Given the description of an element on the screen output the (x, y) to click on. 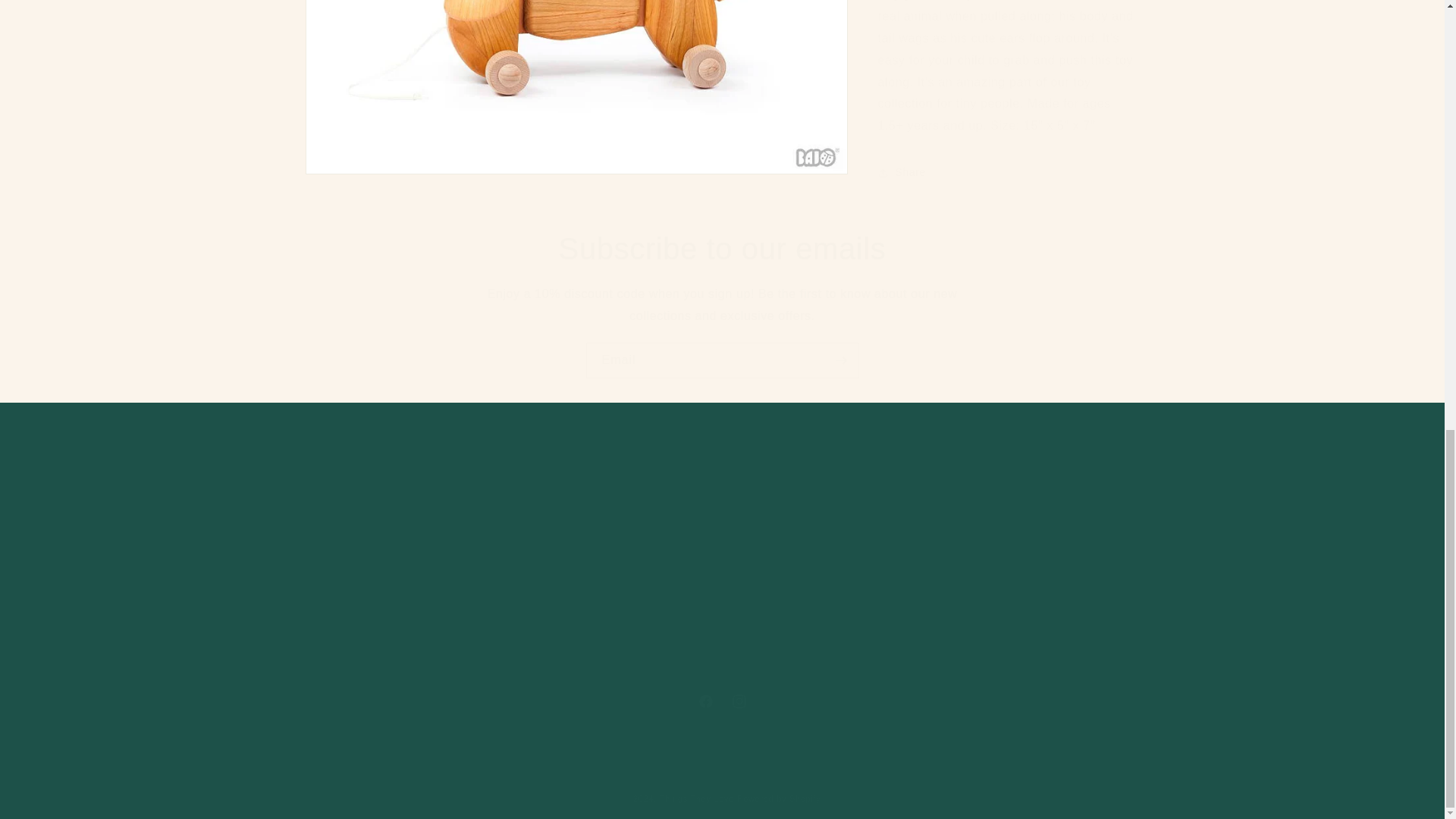
Subscribe to our emails (721, 248)
Email (721, 701)
